Given the description of an element on the screen output the (x, y) to click on. 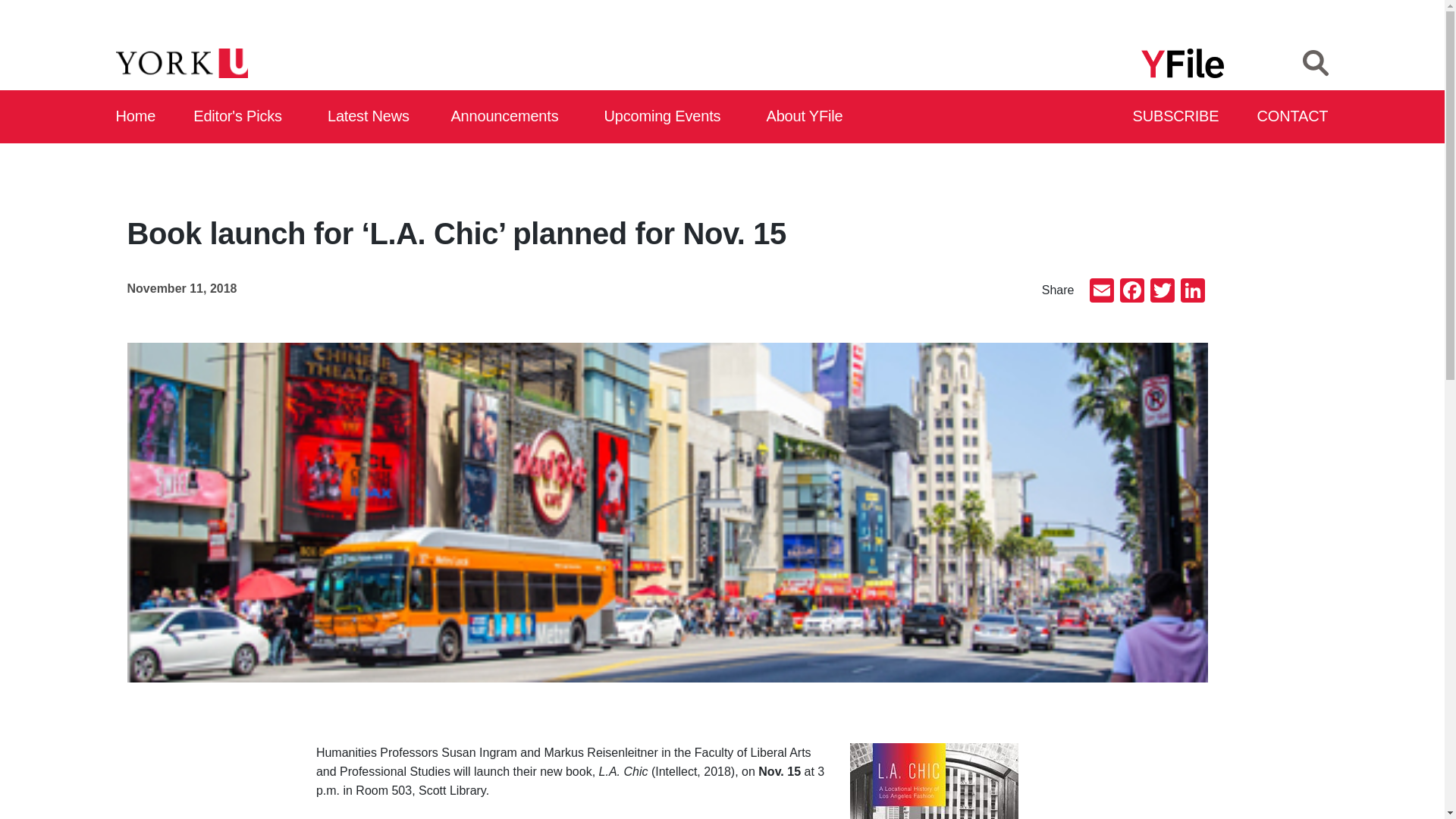
Twitter (1161, 292)
Facebook (1131, 292)
LinkedIn (1191, 292)
Latest News (370, 116)
Editor's Picks (242, 116)
Upcoming Events (667, 116)
Announcements (508, 116)
Subscribe (1176, 116)
Facebook (1131, 292)
CONTACT (1293, 116)
Editor's Picks (242, 116)
About YFile (806, 116)
Twitter (1161, 292)
Contact (1293, 116)
SUBSCRIBE (1176, 116)
